Given the description of an element on the screen output the (x, y) to click on. 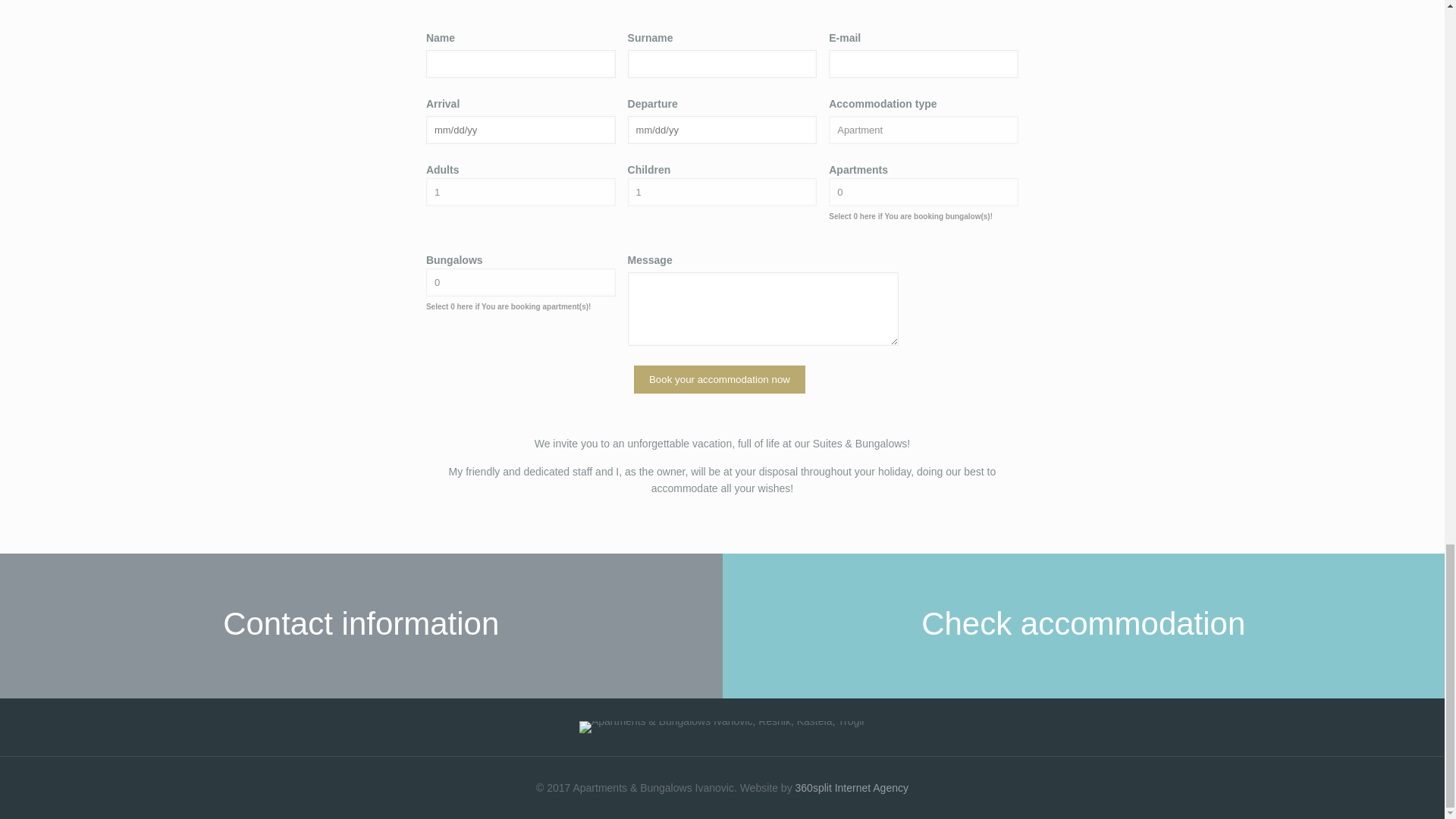
Contact information (360, 625)
360split Internet Agency (851, 787)
Check accommodation (1082, 625)
Book your accommodation now (719, 379)
Book your accommodation now (719, 379)
